Given the description of an element on the screen output the (x, y) to click on. 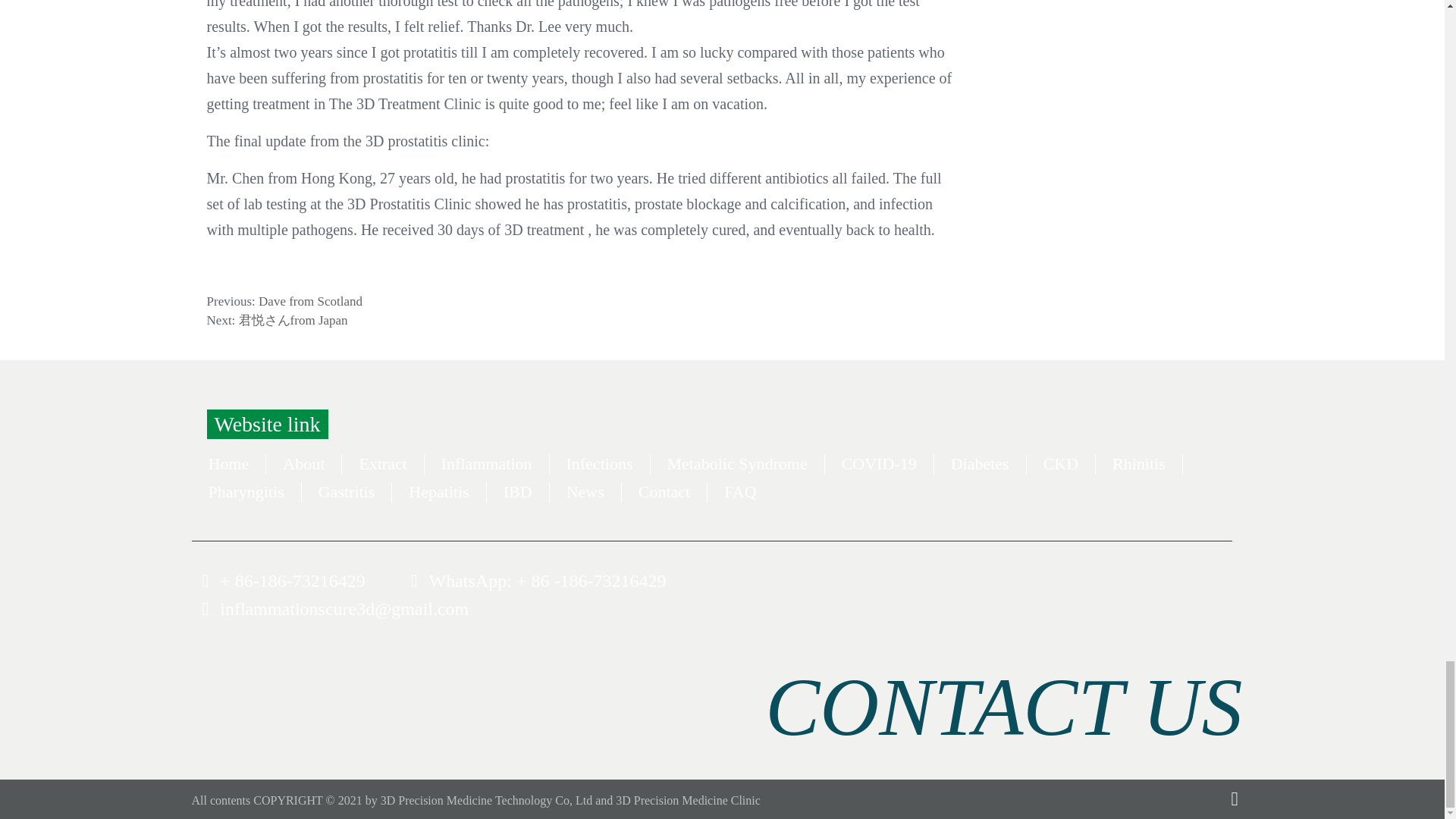
About (303, 463)
Infections (599, 463)
Extract (382, 463)
COVID-19 (879, 463)
Inflammation (486, 463)
Metabolic Syndrome (737, 463)
Dave from Scotland (310, 301)
Home (227, 463)
